Given the description of an element on the screen output the (x, y) to click on. 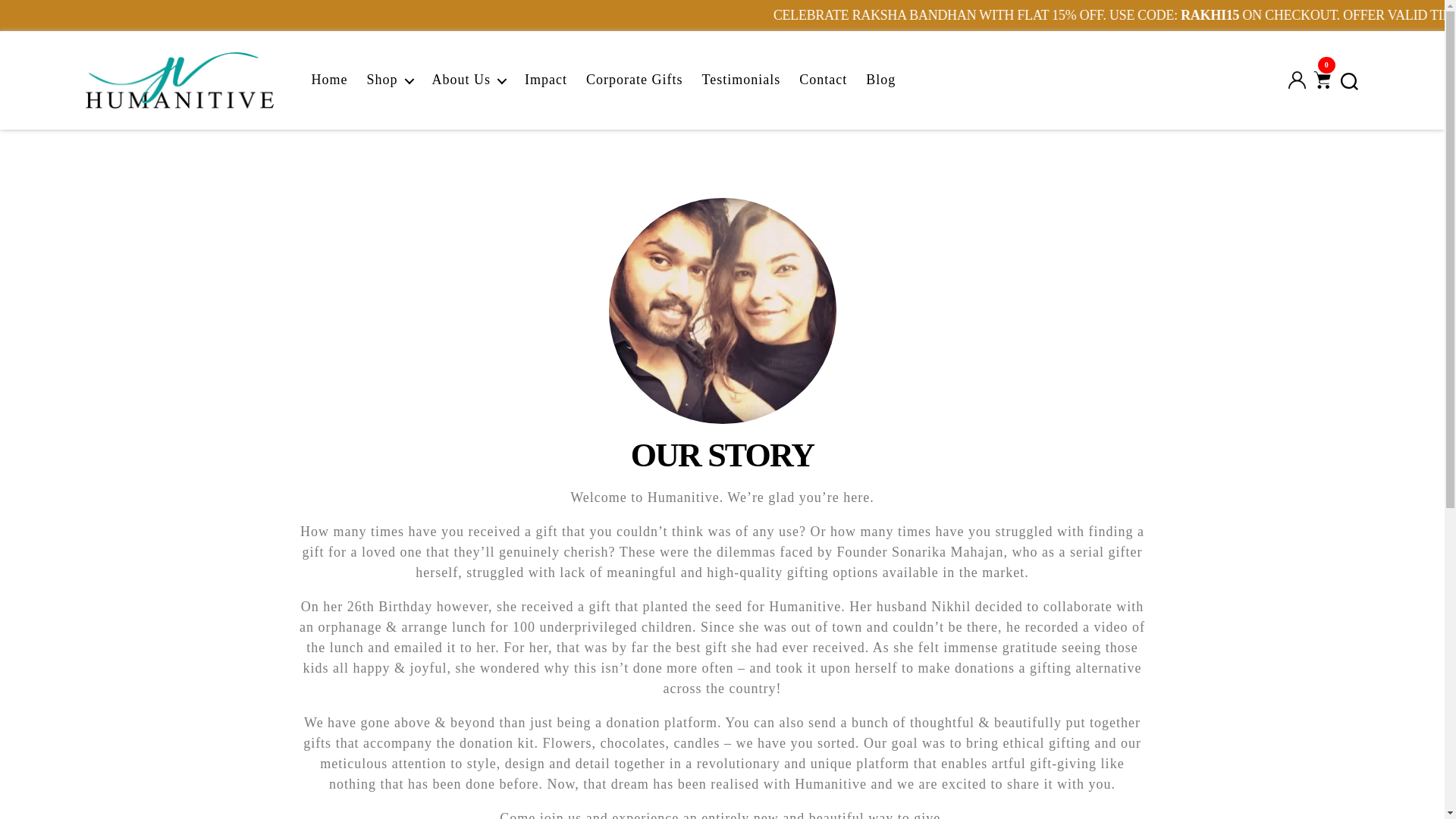
Shop (389, 80)
Testimonials (740, 80)
Blog (880, 80)
Home (329, 80)
Impact (545, 80)
About Us (469, 80)
Contact (823, 80)
Corporate Gifts (634, 80)
